Given the description of an element on the screen output the (x, y) to click on. 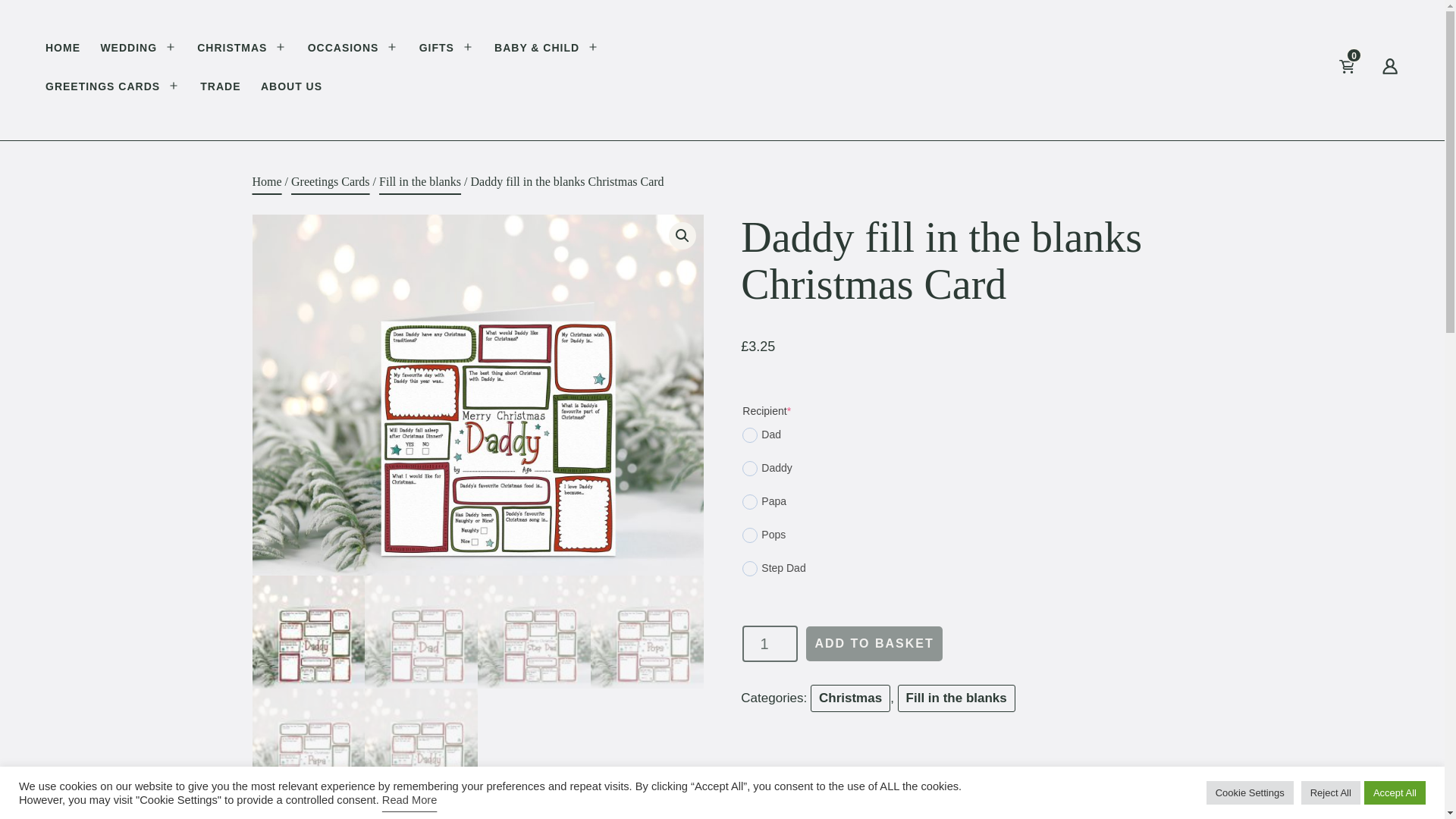
CHRISTMAS (232, 50)
View your shopping cart (1358, 70)
WEDDING (128, 50)
GREETINGS CARDS (102, 88)
HOME (62, 50)
GIFTS (436, 50)
OCCASIONS (342, 50)
View your shopping cart (1369, 70)
1 (769, 643)
